Given the description of an element on the screen output the (x, y) to click on. 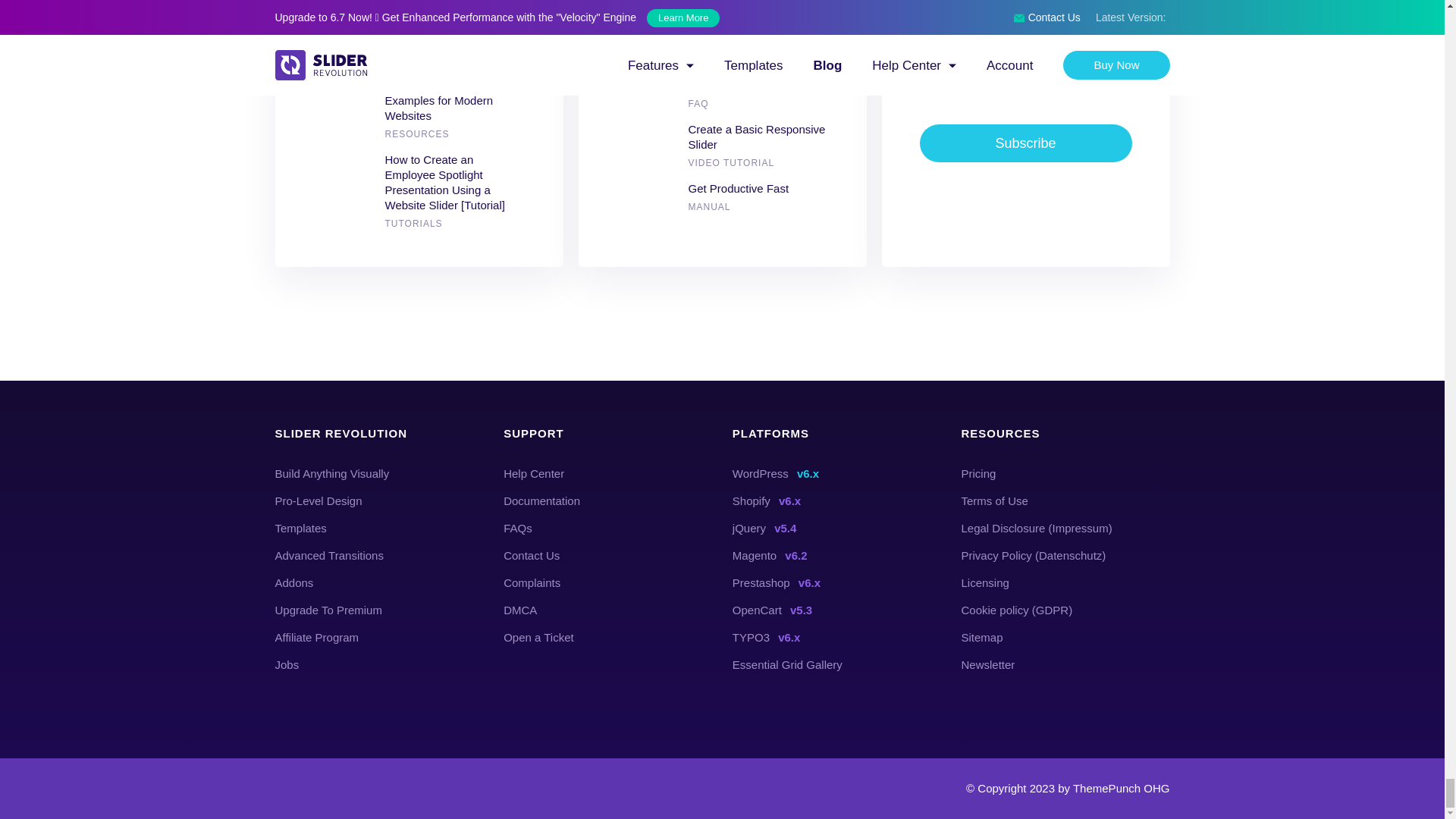
Subscribe (1024, 143)
